Given the description of an element on the screen output the (x, y) to click on. 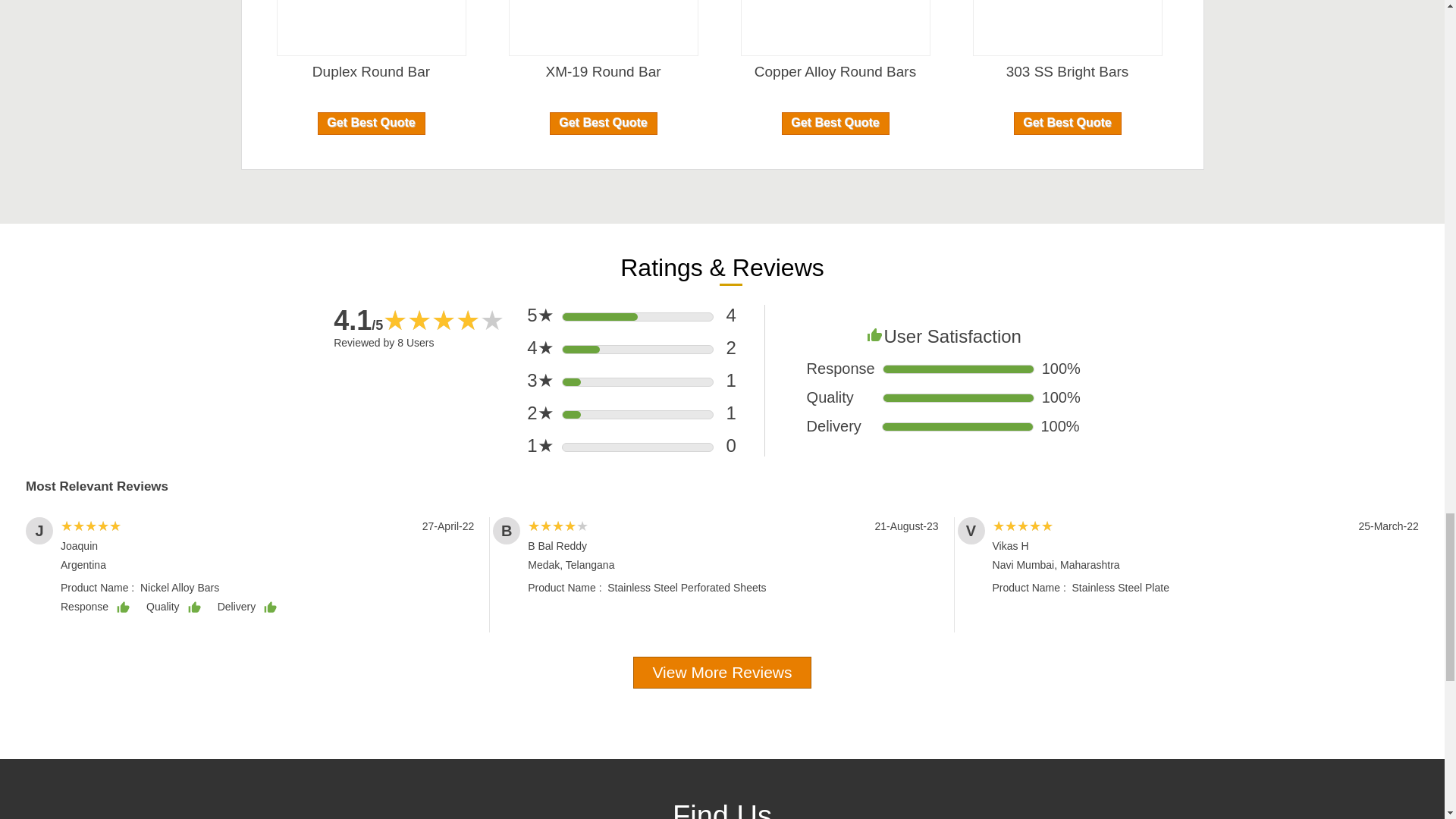
303 SS Bright Bars (1066, 71)
4.1 out of 5 Votes (357, 319)
Duplex Round Bar (370, 71)
XM-19 Round Bar (602, 71)
Copper Alloy Round Bars (834, 71)
